Given the description of an element on the screen output the (x, y) to click on. 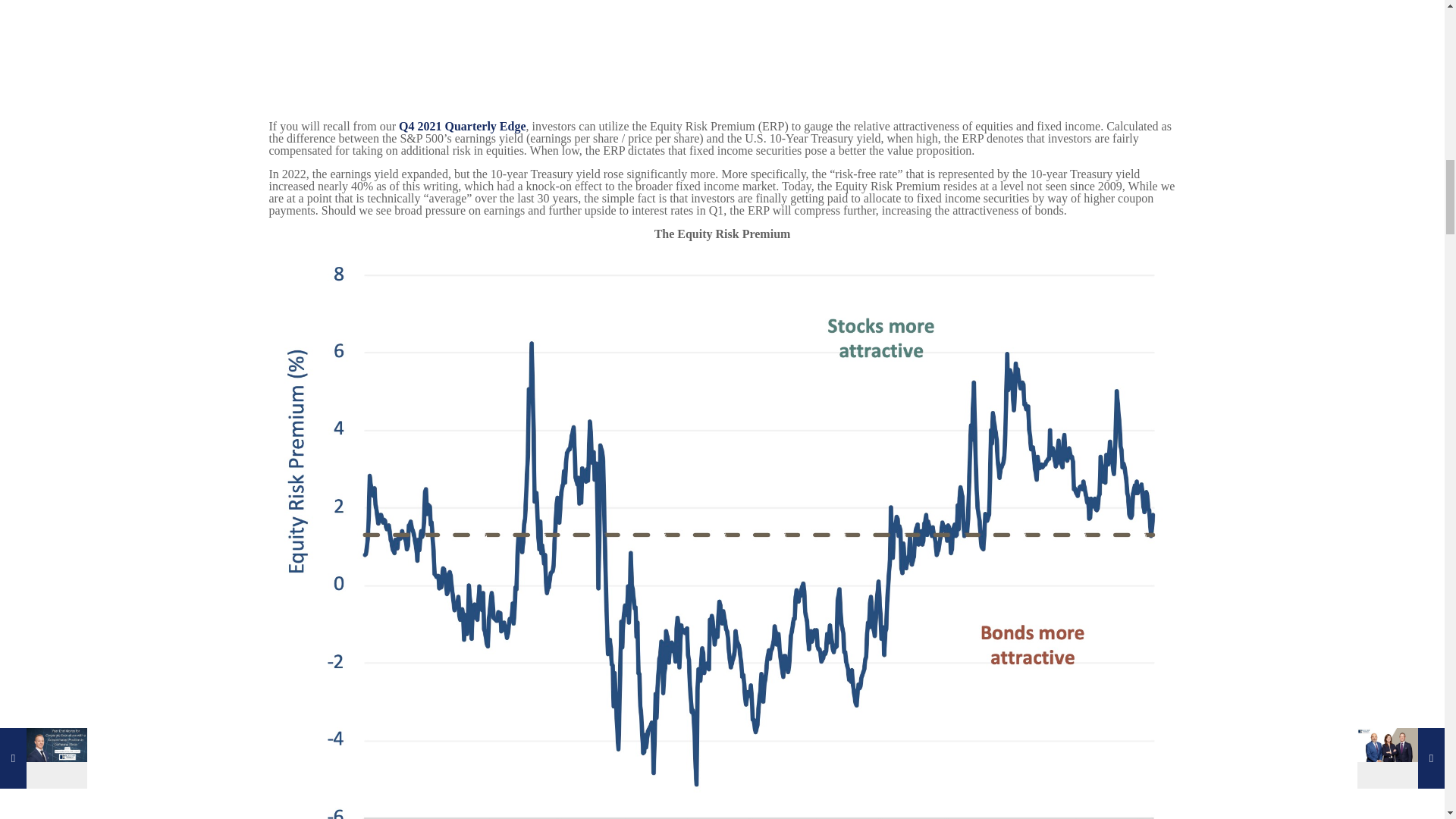
Q4 2021 Quarterly Edge (461, 125)
2023 Q1 Quarterly Edge - Are Bonds Back? (533, 48)
